Given the description of an element on the screen output the (x, y) to click on. 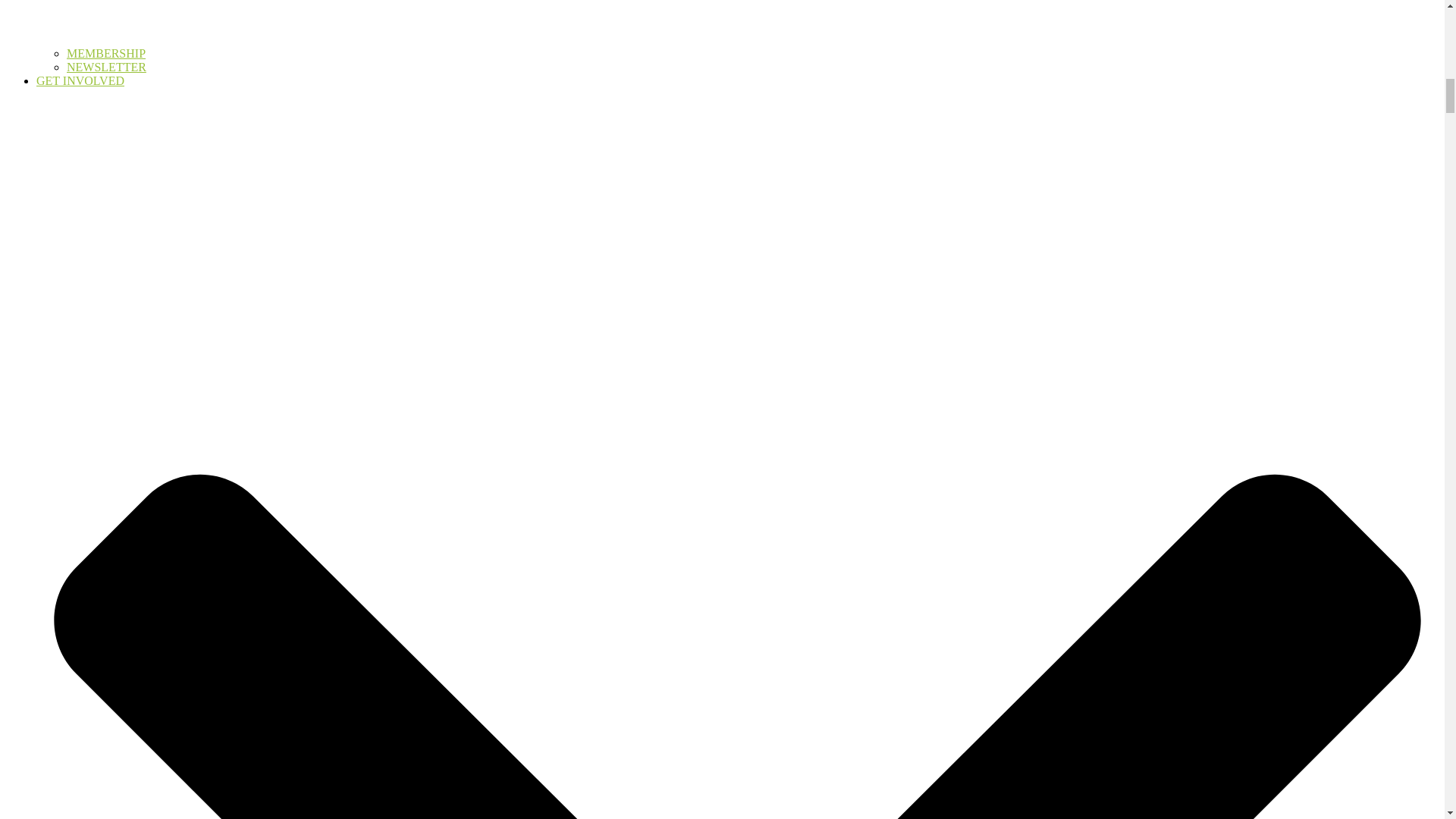
NEWSLETTER (106, 66)
NEWSLETTER (106, 66)
MEMBERSHIP (105, 52)
MEMBERSHIP (105, 52)
